Given the description of an element on the screen output the (x, y) to click on. 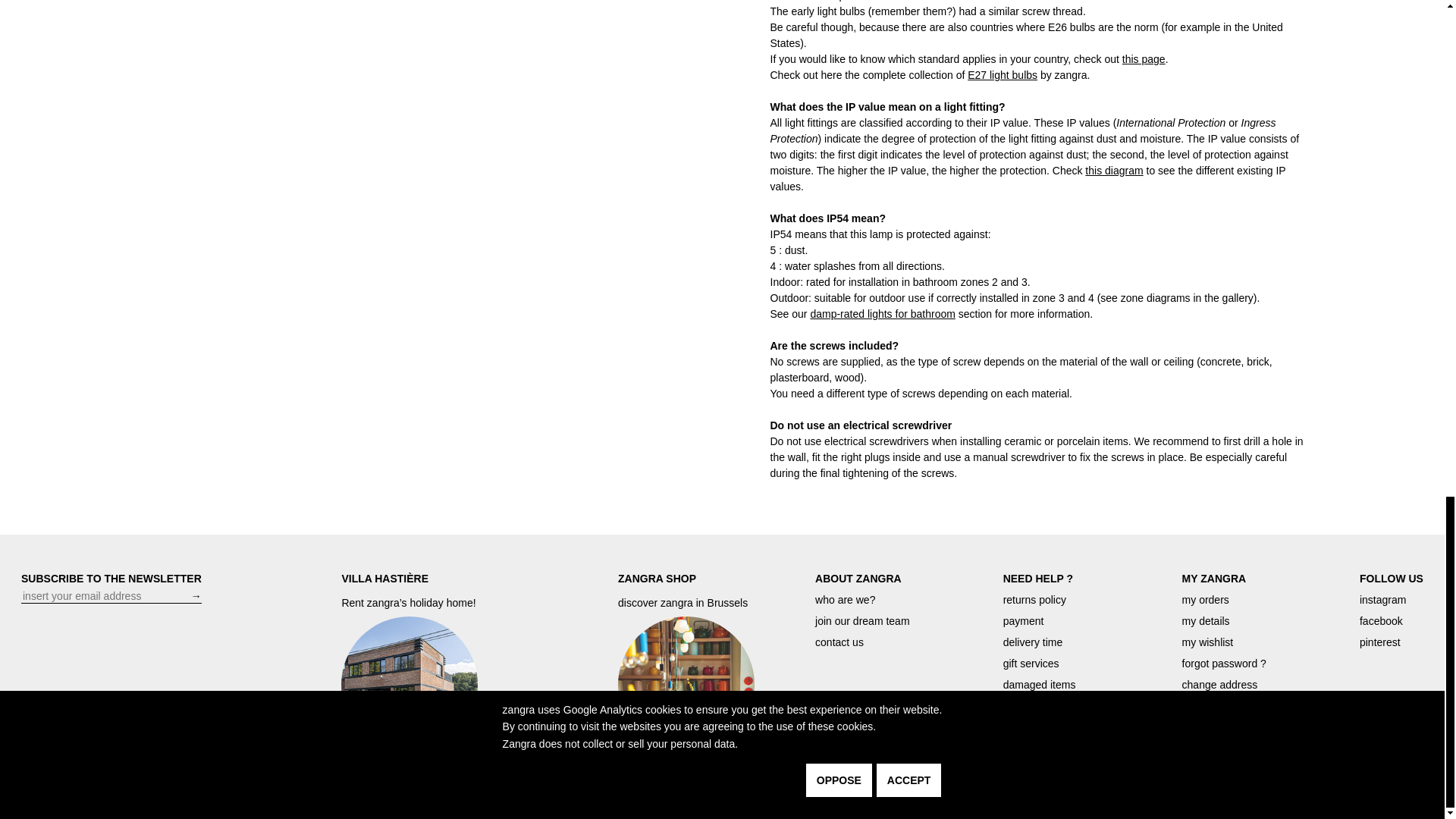
contact us (839, 642)
delivery time (1032, 642)
this page (1144, 59)
damaged items (1039, 684)
this diagram (1113, 170)
E27 light bulbs (1002, 74)
payment (1023, 621)
who are we? (845, 599)
damp-rated lights for bathroom (882, 313)
join our dream team (862, 621)
returns policy (1034, 599)
gift services (1031, 663)
